Given the description of an element on the screen output the (x, y) to click on. 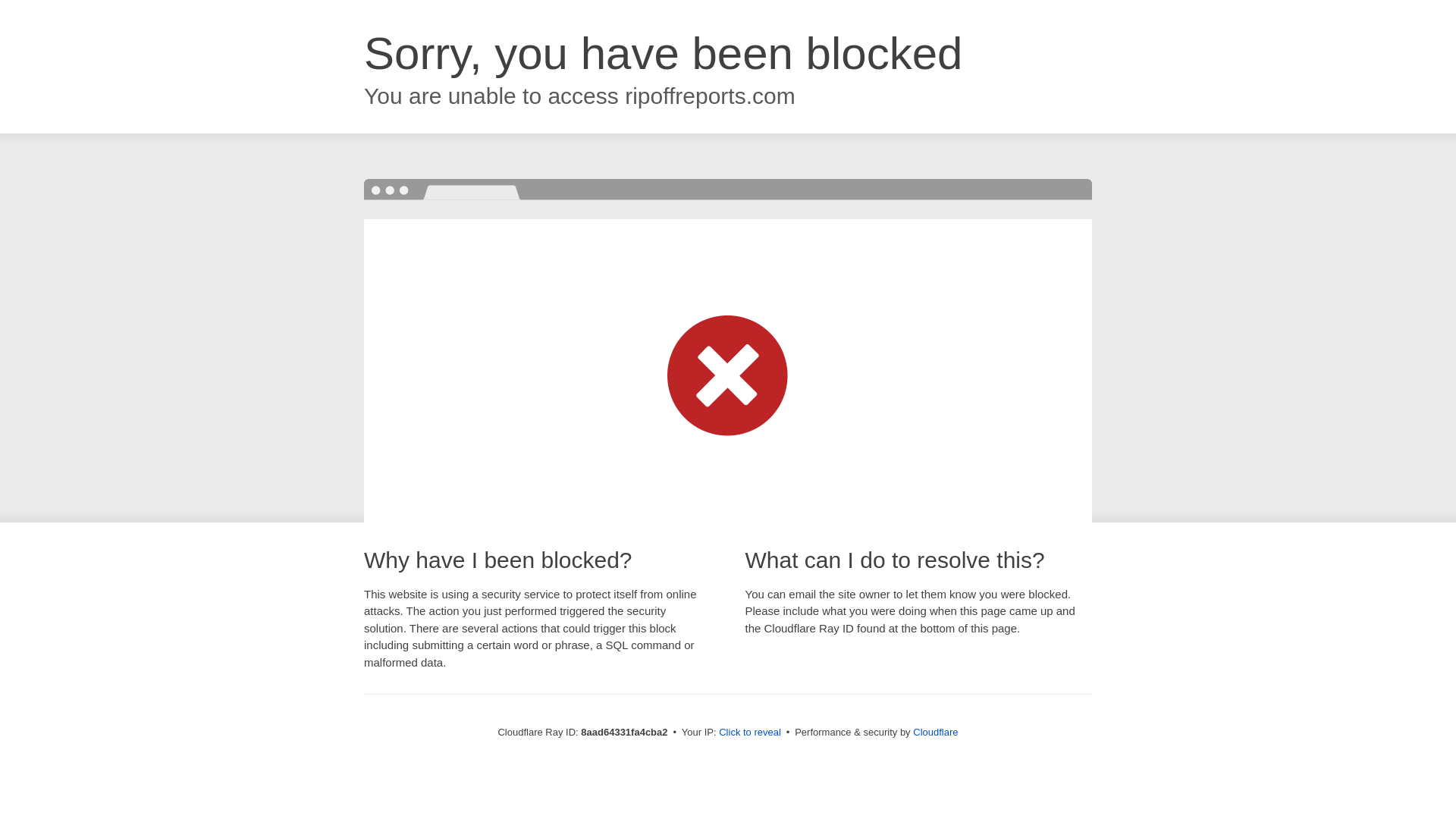
Cloudflare (935, 731)
Click to reveal (749, 732)
